Given the description of an element on the screen output the (x, y) to click on. 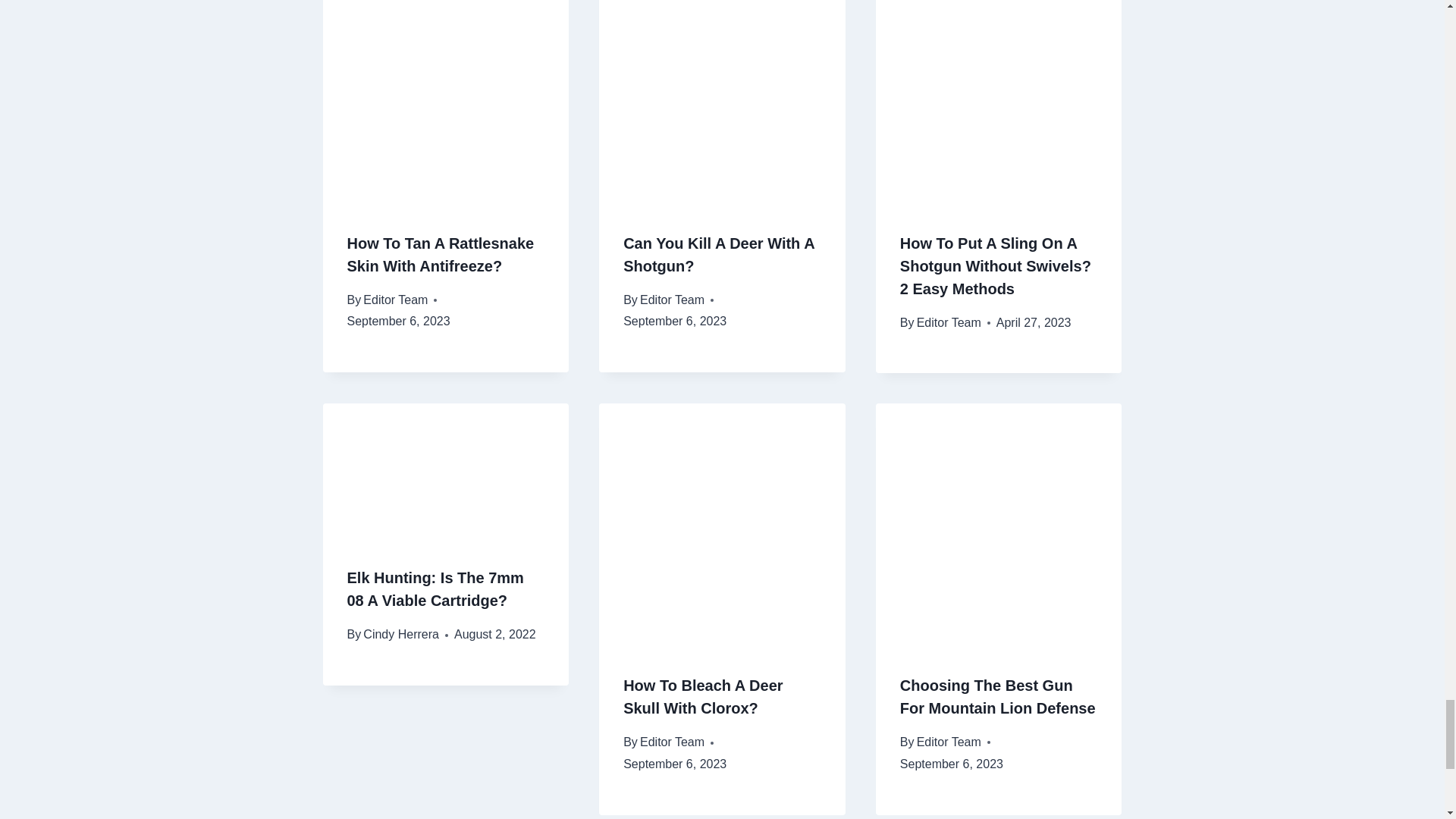
Editor Team (395, 299)
How To Tan A Rattlesnake Skin With Antifreeze? (440, 254)
Can You Kill A Deer With A Shotgun? (718, 254)
Editor Team (672, 299)
